Given the description of an element on the screen output the (x, y) to click on. 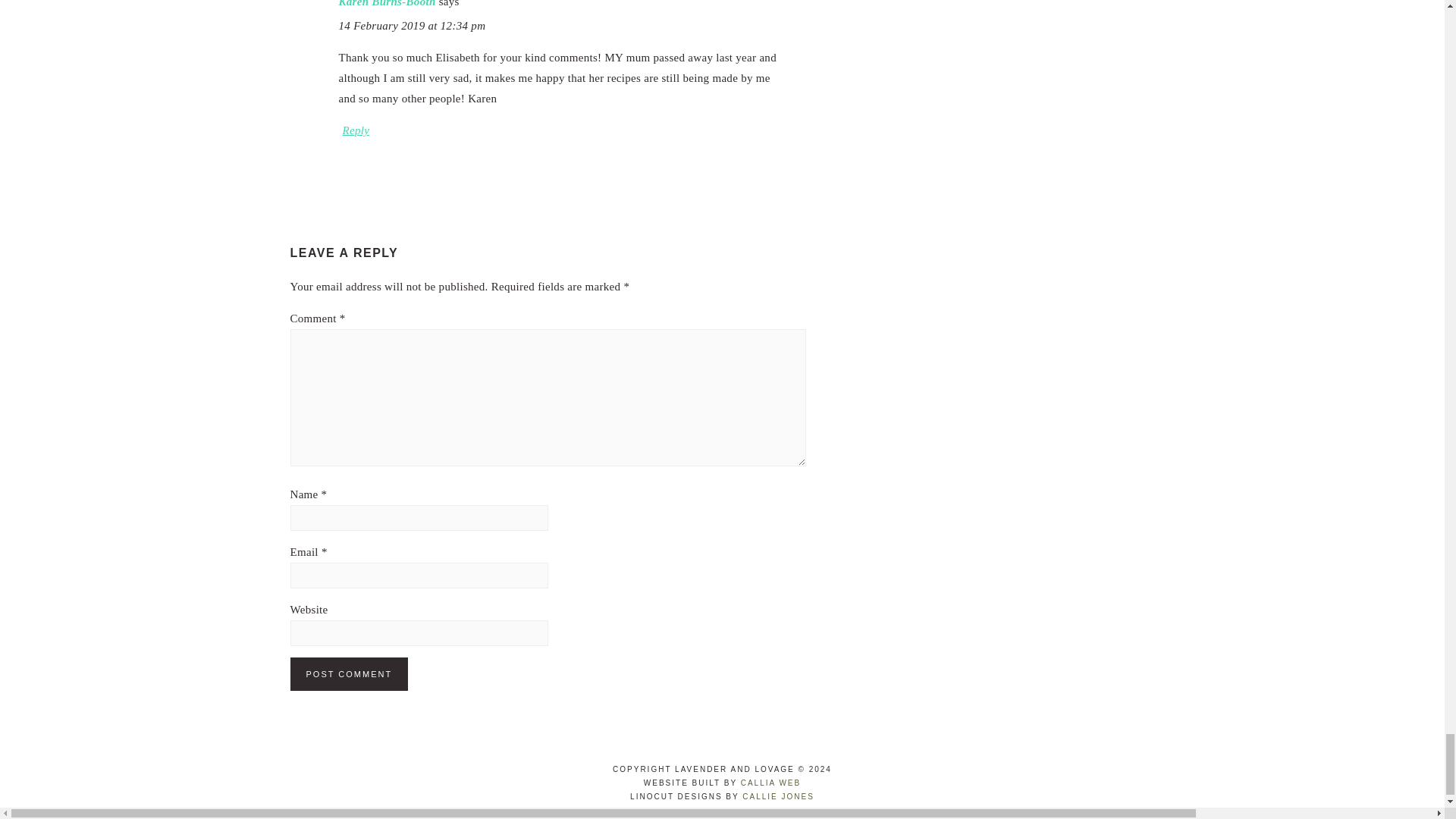
Post Comment (348, 674)
